Given the description of an element on the screen output the (x, y) to click on. 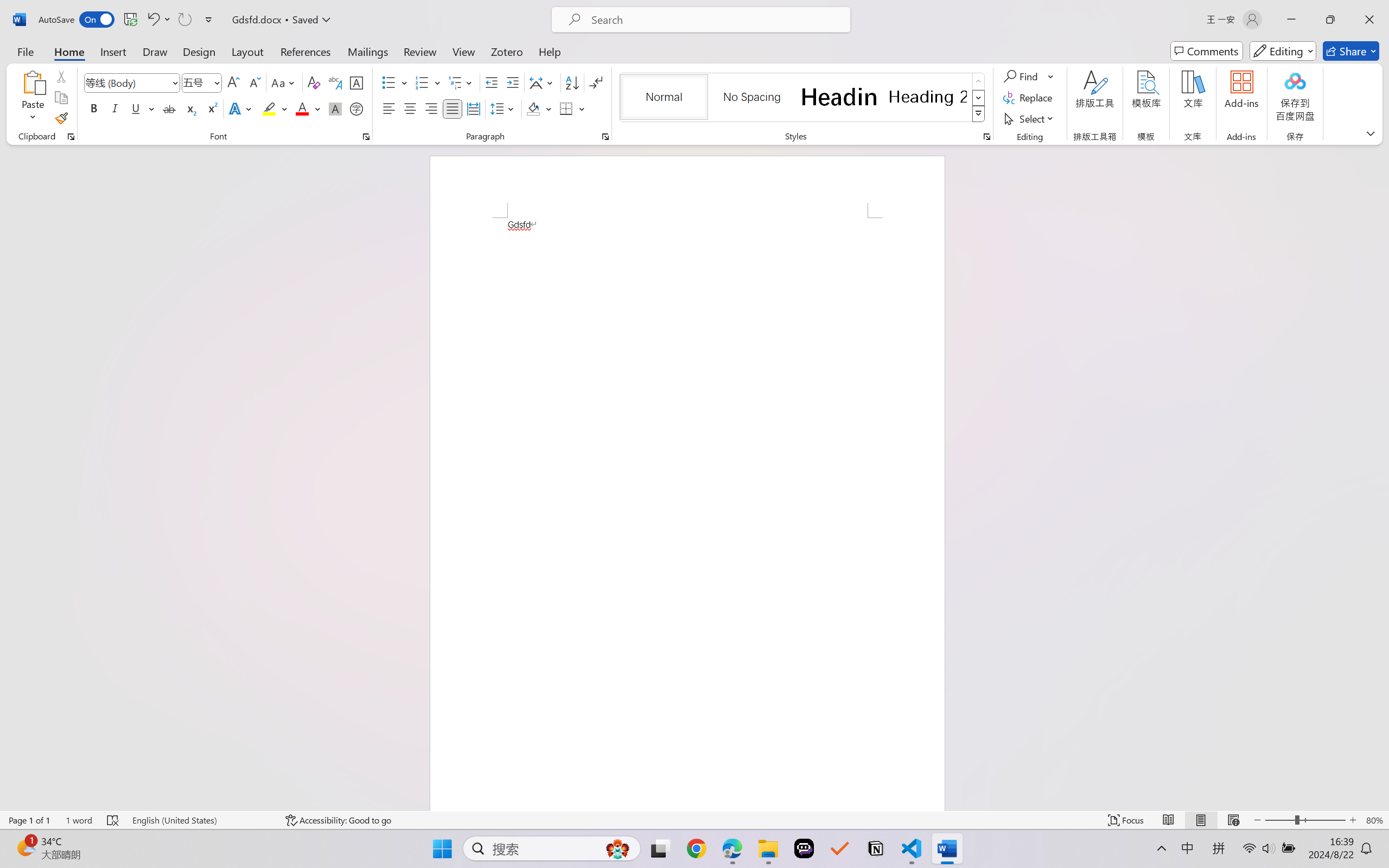
Undo Apply Quick Style (152, 19)
Class: NetUIScrollBar (1382, 477)
